Given the description of an element on the screen output the (x, y) to click on. 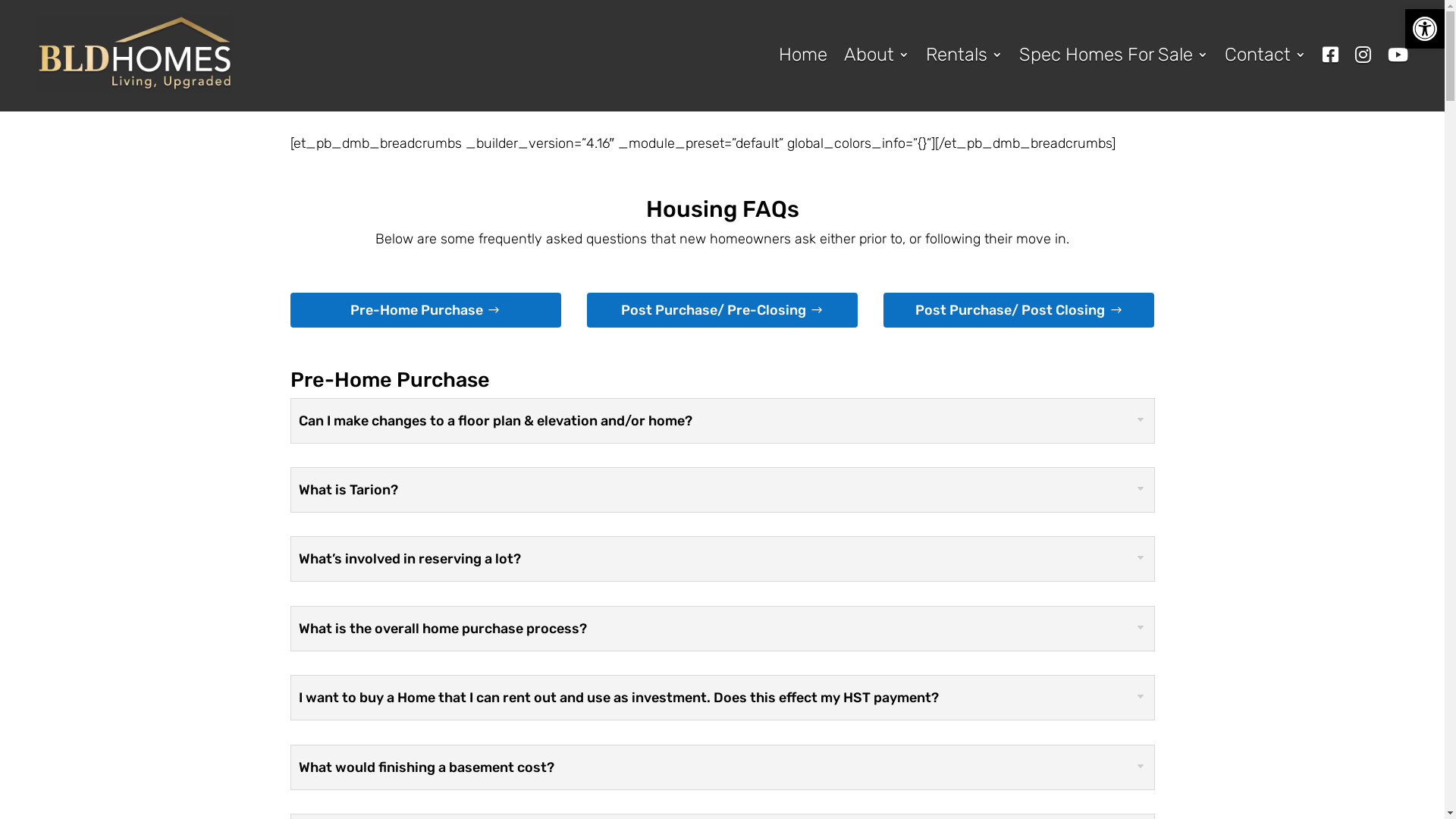
Facebook Element type: hover (1330, 54)
Pre-Home Purchase Element type: text (424, 309)
About Element type: text (876, 54)
Contact Element type: text (1264, 54)
Home Element type: text (802, 54)
Youtube Element type: hover (1397, 54)
Instagram Element type: hover (1363, 54)
Post Purchase/ Post Closing Element type: text (1018, 309)
Rentals Element type: text (963, 54)
Open toolbar
Accessibility Tools Element type: text (1424, 28)
Spec Homes For Sale Element type: text (1113, 54)
Post Purchase/ Pre-Closing Element type: text (721, 309)
